Given the description of an element on the screen output the (x, y) to click on. 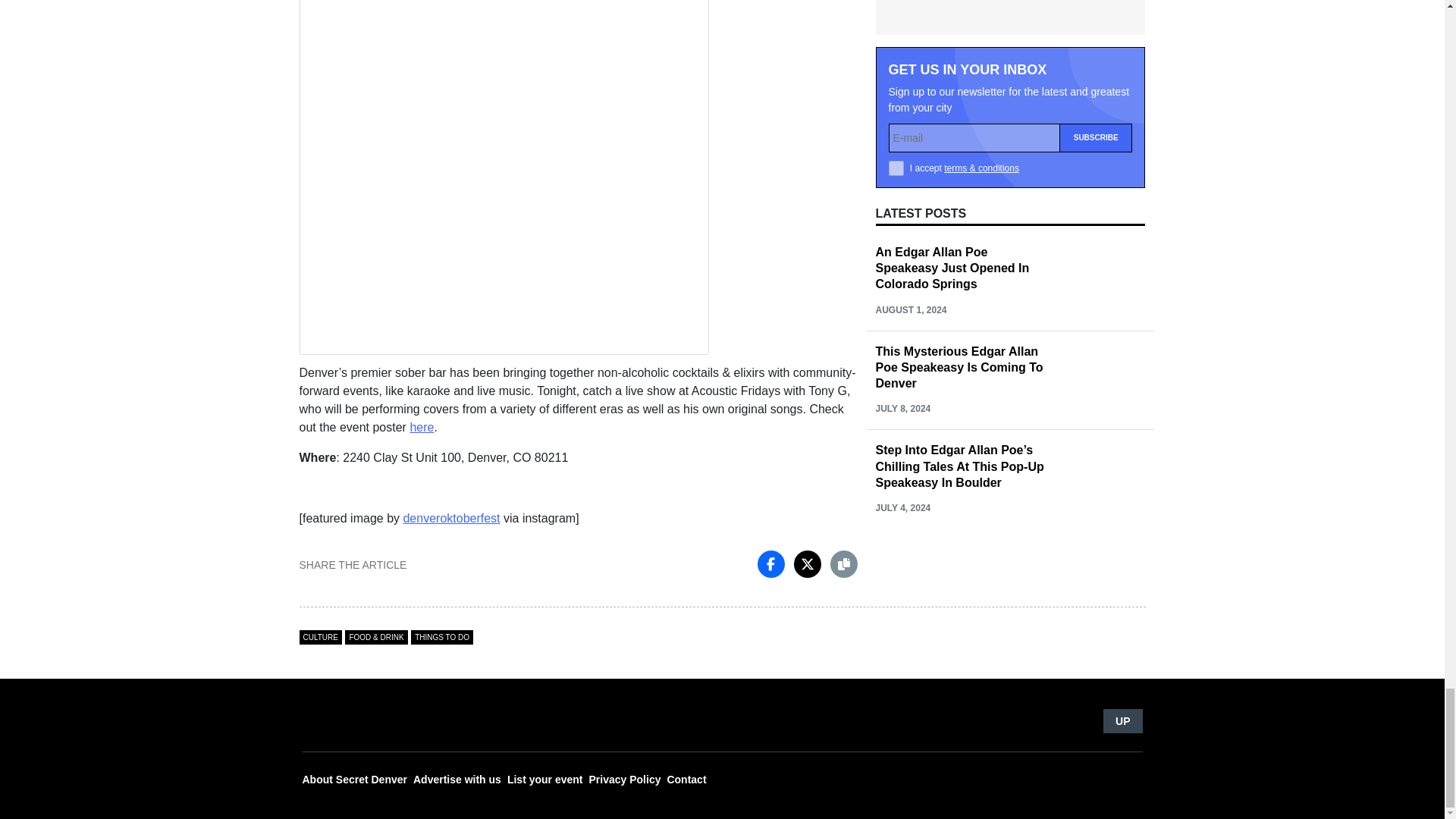
denveroktoberfest (451, 517)
CULTURE (319, 636)
here (421, 427)
